Given the description of an element on the screen output the (x, y) to click on. 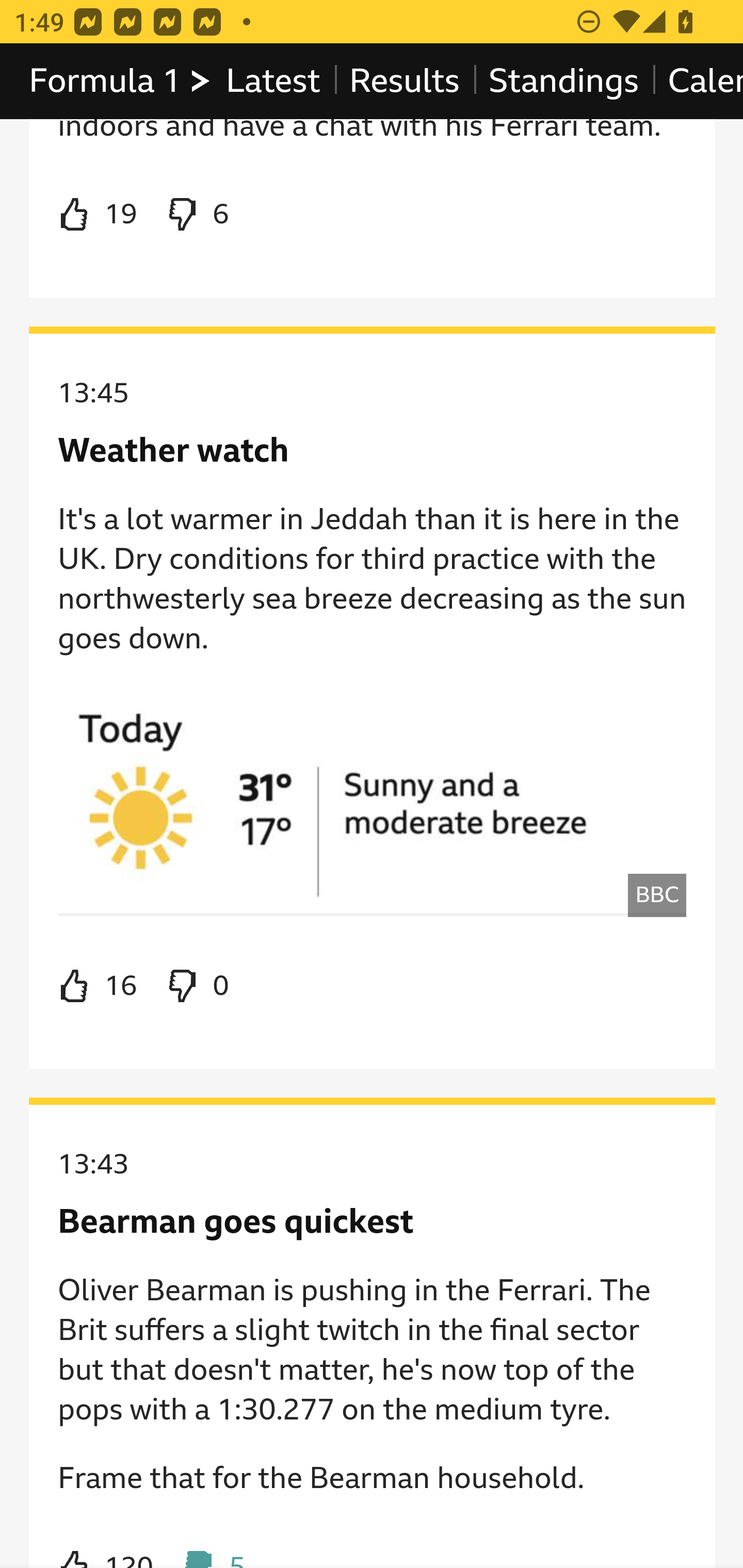
Like (97, 214)
Dislike (196, 214)
Like (97, 986)
Dislike (196, 986)
